Given the description of an element on the screen output the (x, y) to click on. 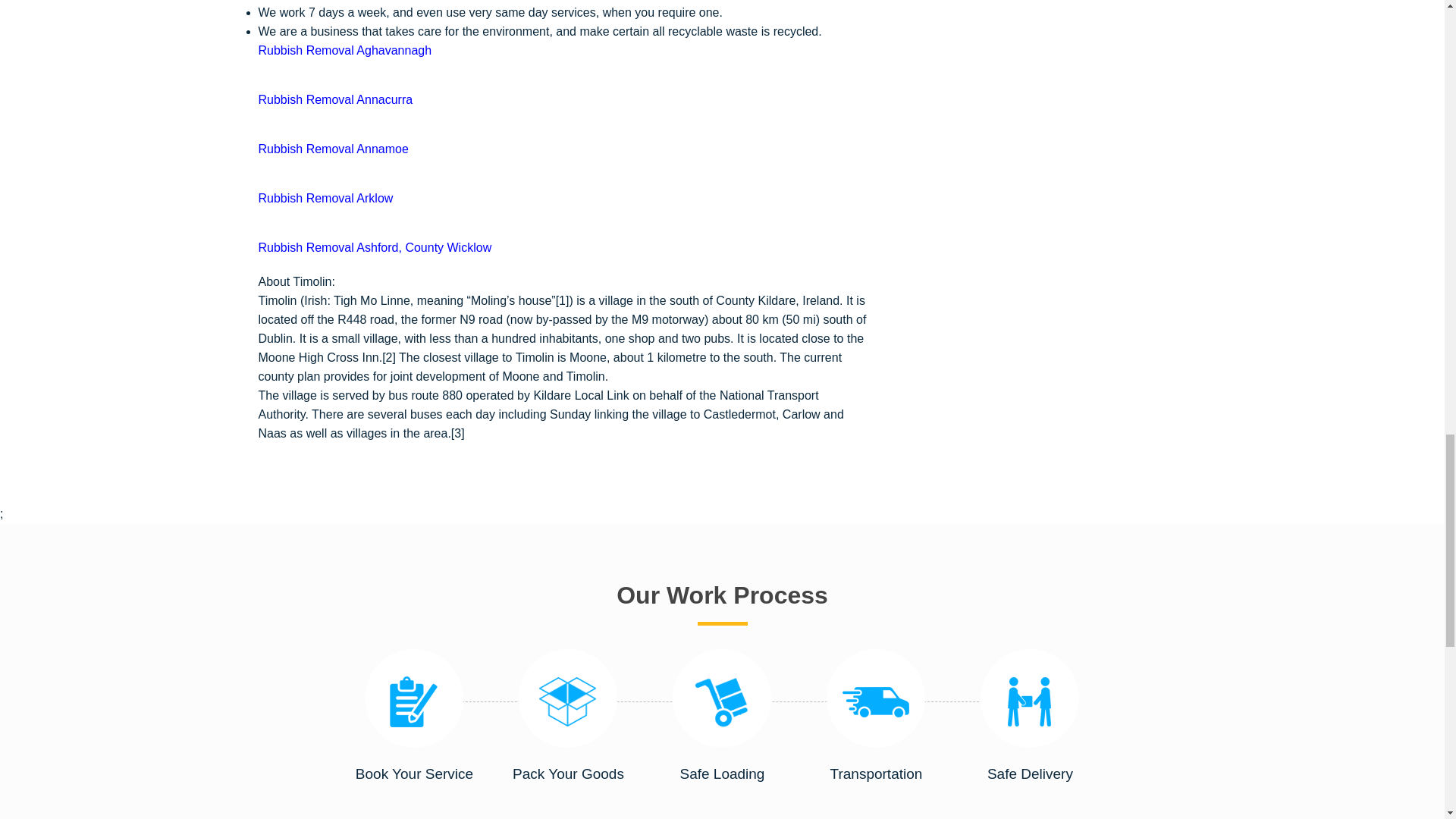
Rubbish Removal Aghavannagh (343, 50)
Rubbish Removal Annamoe (332, 148)
Rubbish Removal Aghavannagh (343, 50)
Rubbish Removal Arklow (325, 197)
Rubbish Removal Annacurra (334, 99)
Rubbish Removal Annacurra (334, 99)
Rubbish Removal Annamoe (332, 148)
Rubbish Removal Ashford, County Wicklow (374, 246)
